Given the description of an element on the screen output the (x, y) to click on. 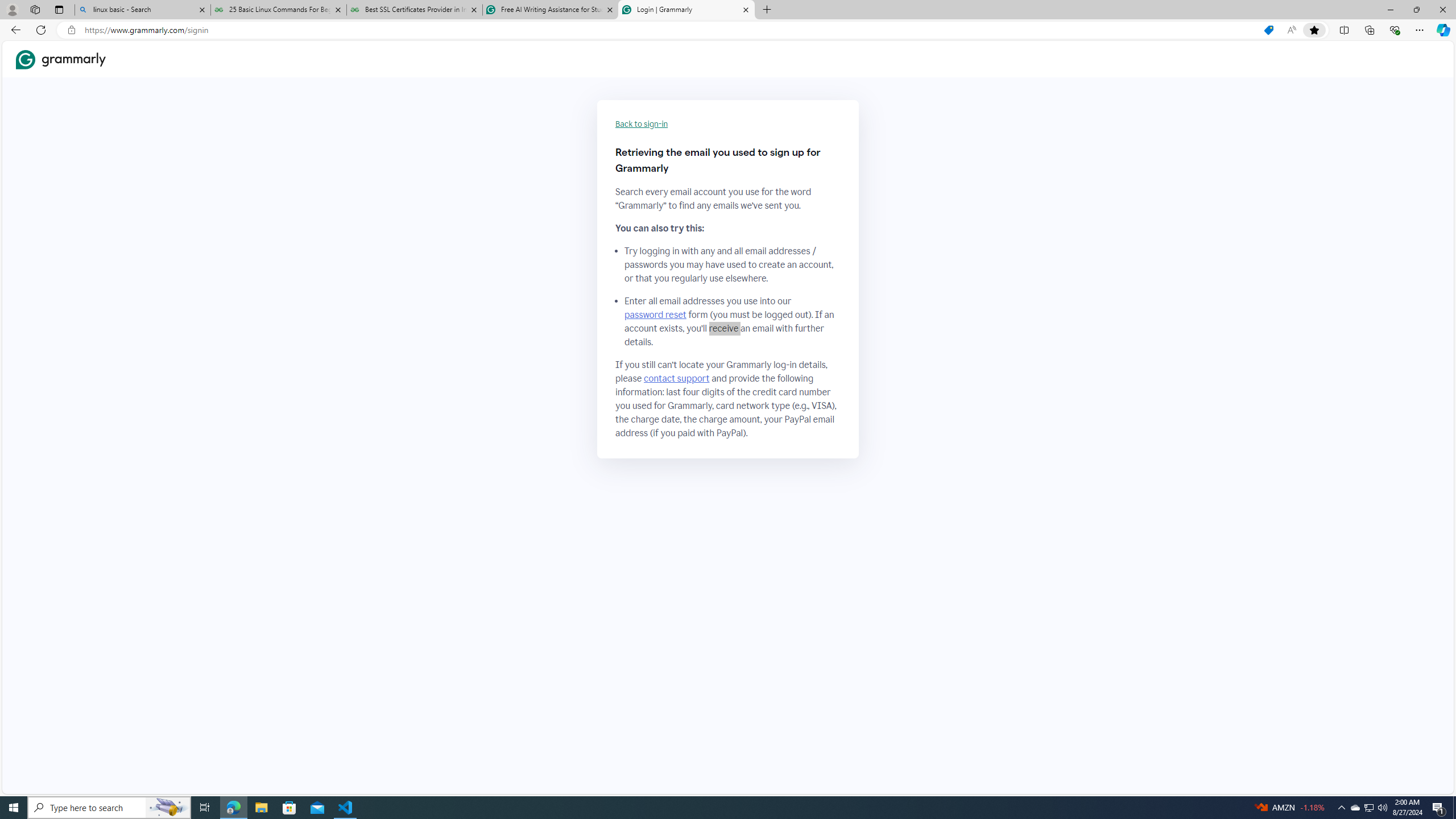
Grammarly Home (61, 58)
password reset (654, 314)
Grammarly Home (61, 59)
